Given the description of an element on the screen output the (x, y) to click on. 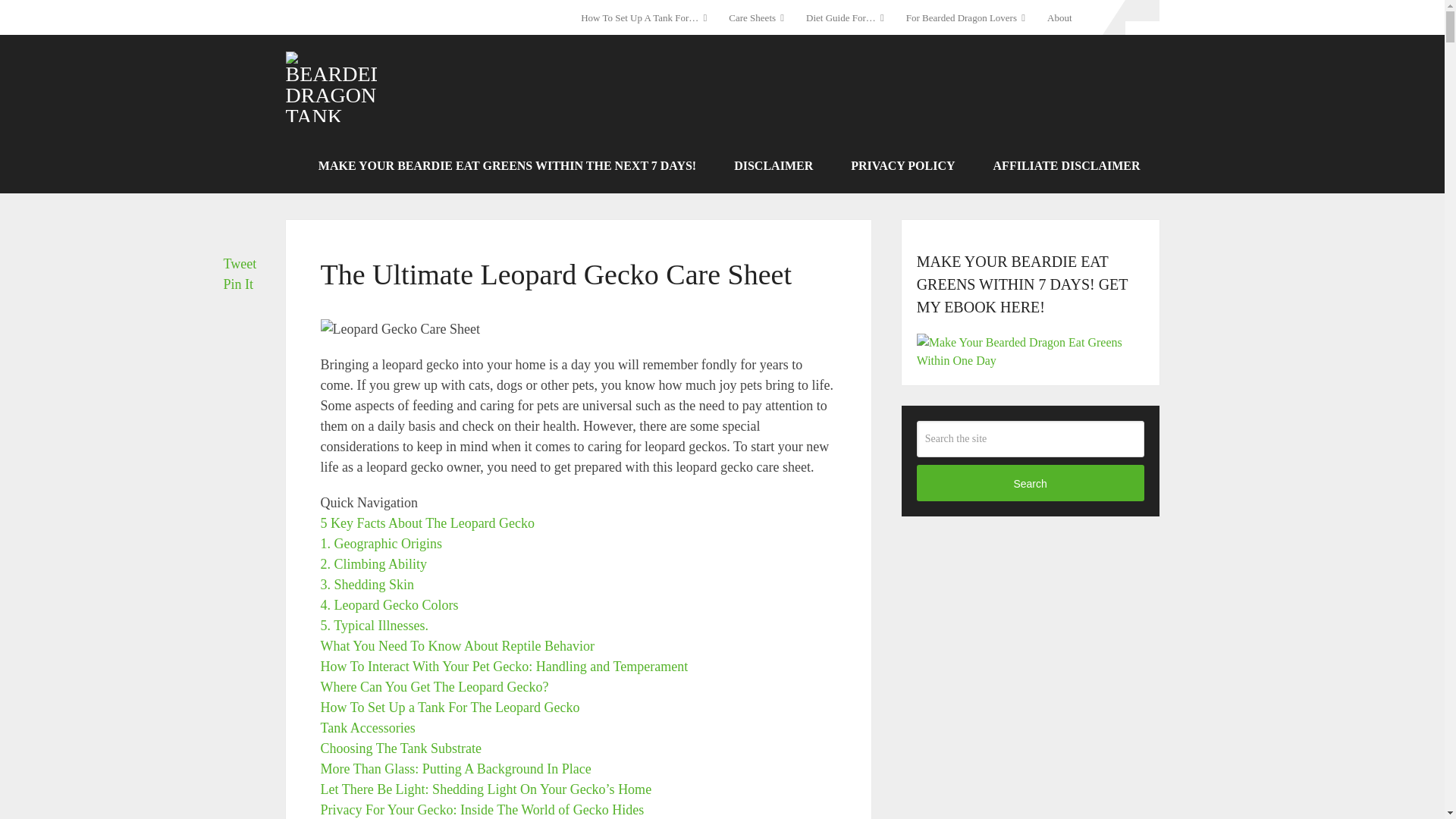
Care Sheets (755, 17)
MAKE YOUR BEARDIE EAT GREENS WITHIN THE NEXT 7 DAYS! (506, 165)
5 Key Facts About The Leopard Gecko (427, 522)
2. Climbing Ability (373, 563)
3. Shedding Skin (366, 584)
1. Geographic Origins (380, 543)
5. Typical Illnesses. (374, 625)
What You Need To Know About Reptile Behavior (457, 645)
